Given the description of an element on the screen output the (x, y) to click on. 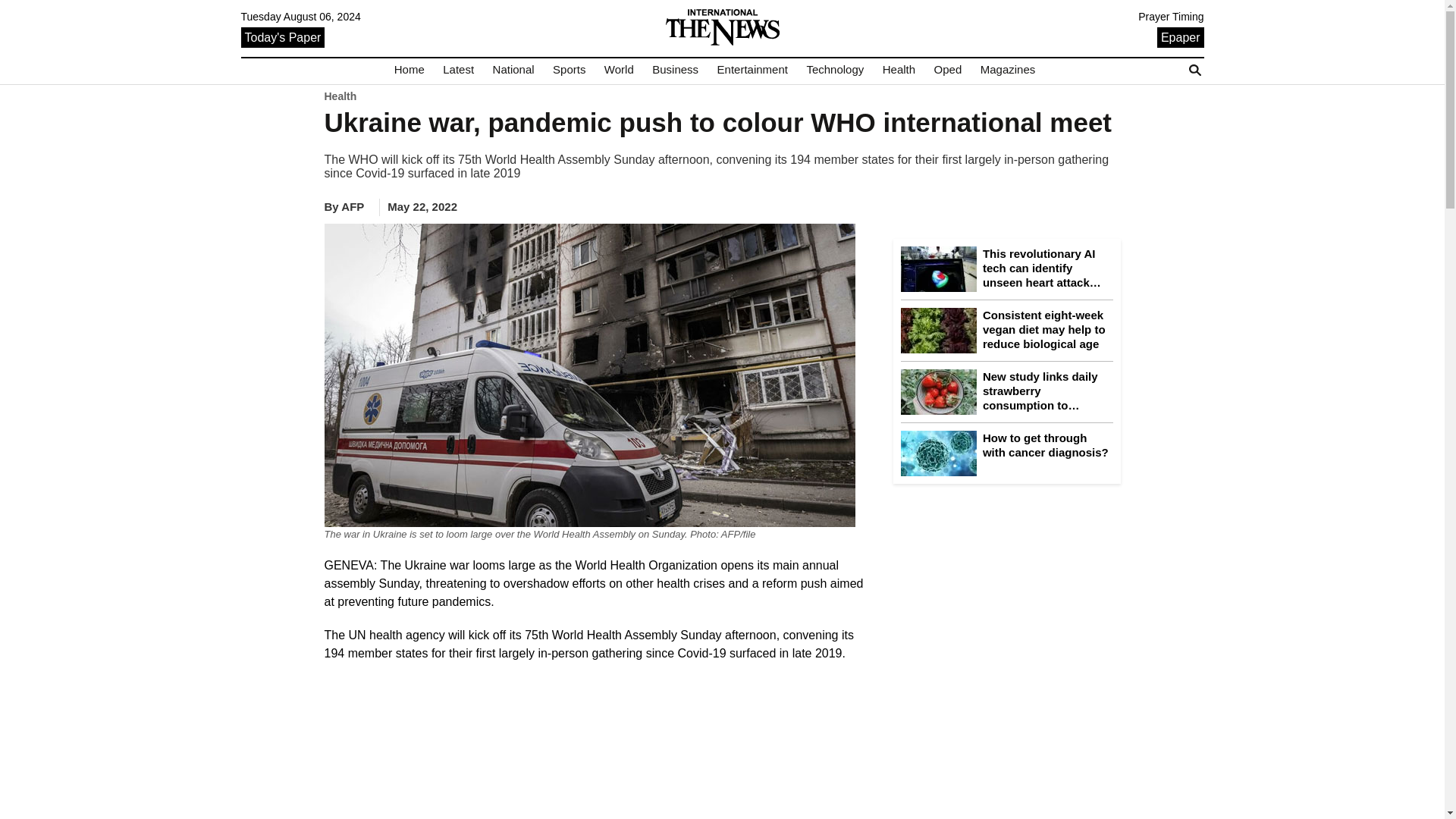
Business (675, 69)
Health (899, 69)
Latest (458, 69)
World (619, 69)
Home (409, 69)
National (512, 69)
Epaper (1180, 37)
Technology (833, 69)
Sports (568, 69)
Prayer Timing (1171, 16)
Entertainment (752, 69)
Today's Paper (282, 37)
